Given the description of an element on the screen output the (x, y) to click on. 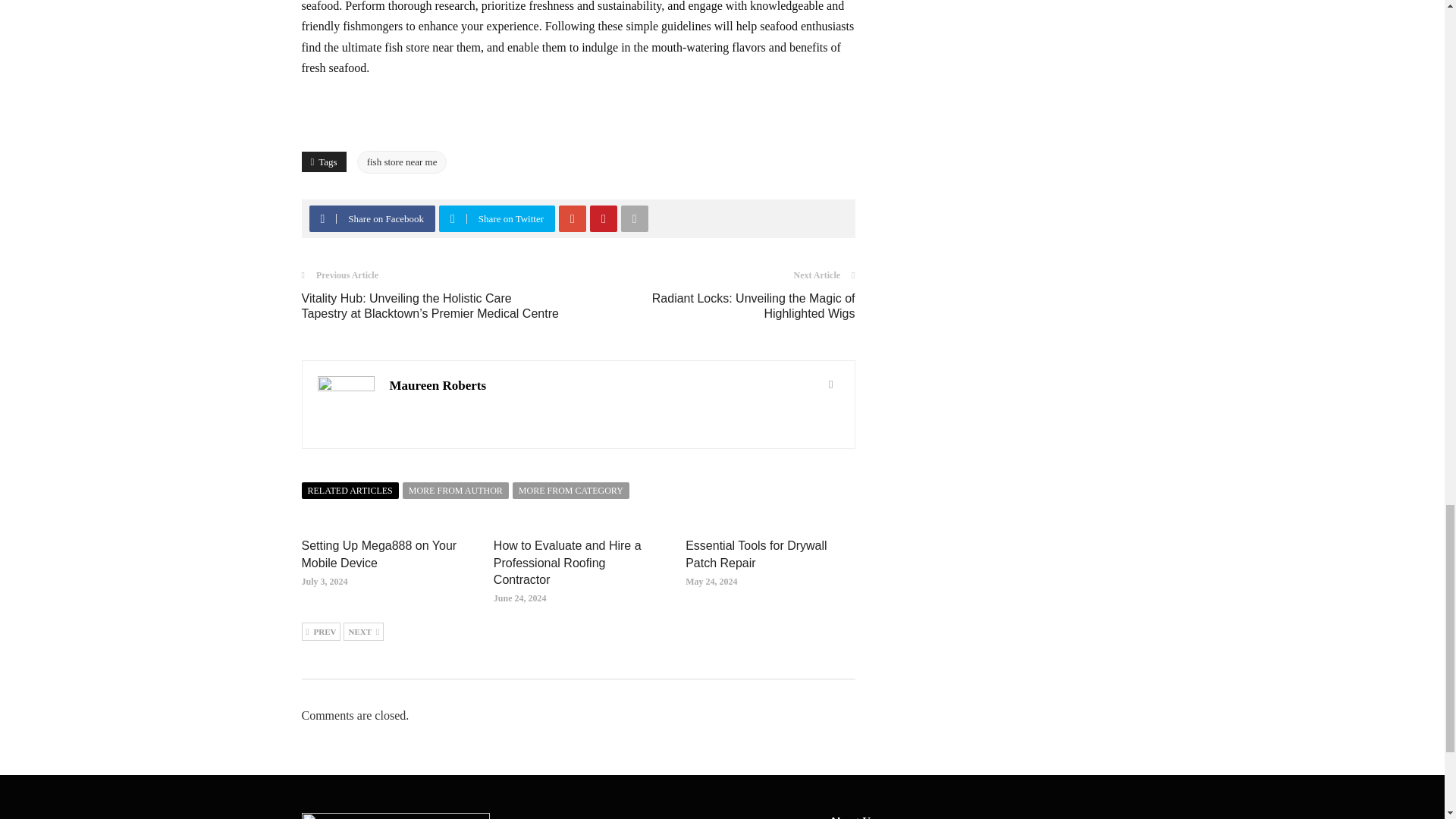
View all posts tagged fish store near me (401, 161)
Twitter (451, 218)
Google Plus (572, 218)
Facebook (322, 218)
Pinterest (603, 218)
